Given the description of an element on the screen output the (x, y) to click on. 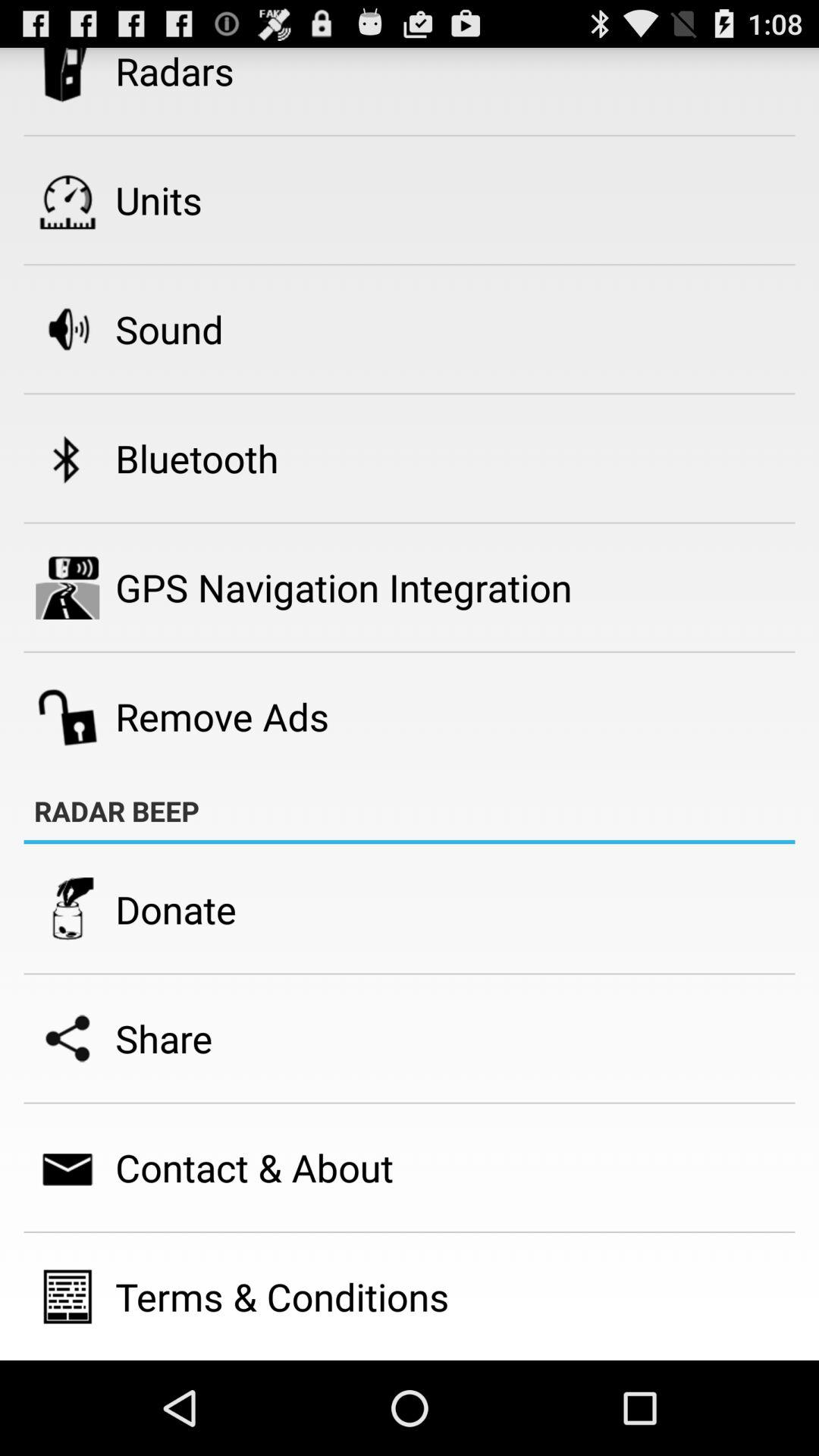
turn on item above the bluetooth app (169, 328)
